Given the description of an element on the screen output the (x, y) to click on. 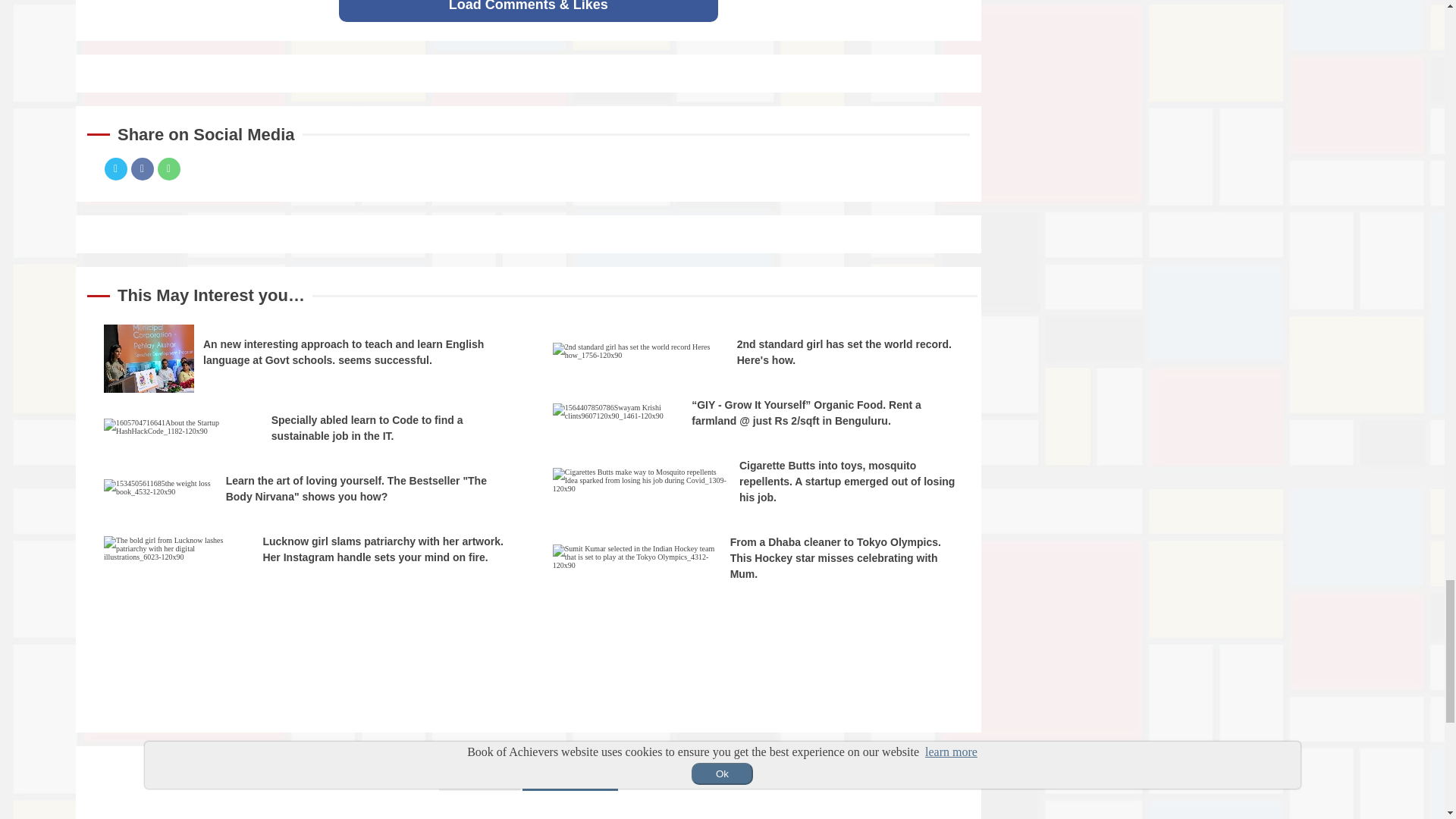
Share on Twitter (116, 169)
Share on Whatsapp (168, 169)
Share on Facebook (141, 169)
